Given the description of an element on the screen output the (x, y) to click on. 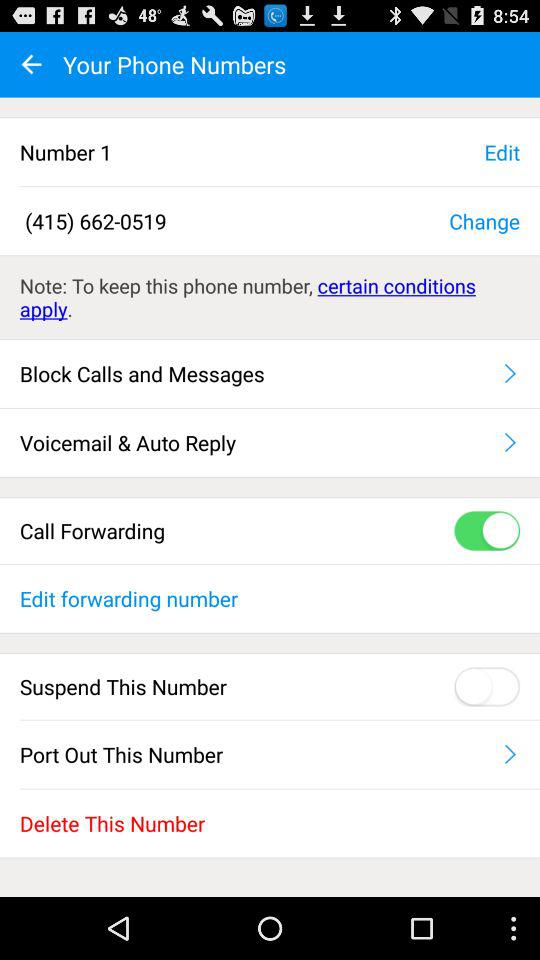
flip to the change item (484, 220)
